Given the description of an element on the screen output the (x, y) to click on. 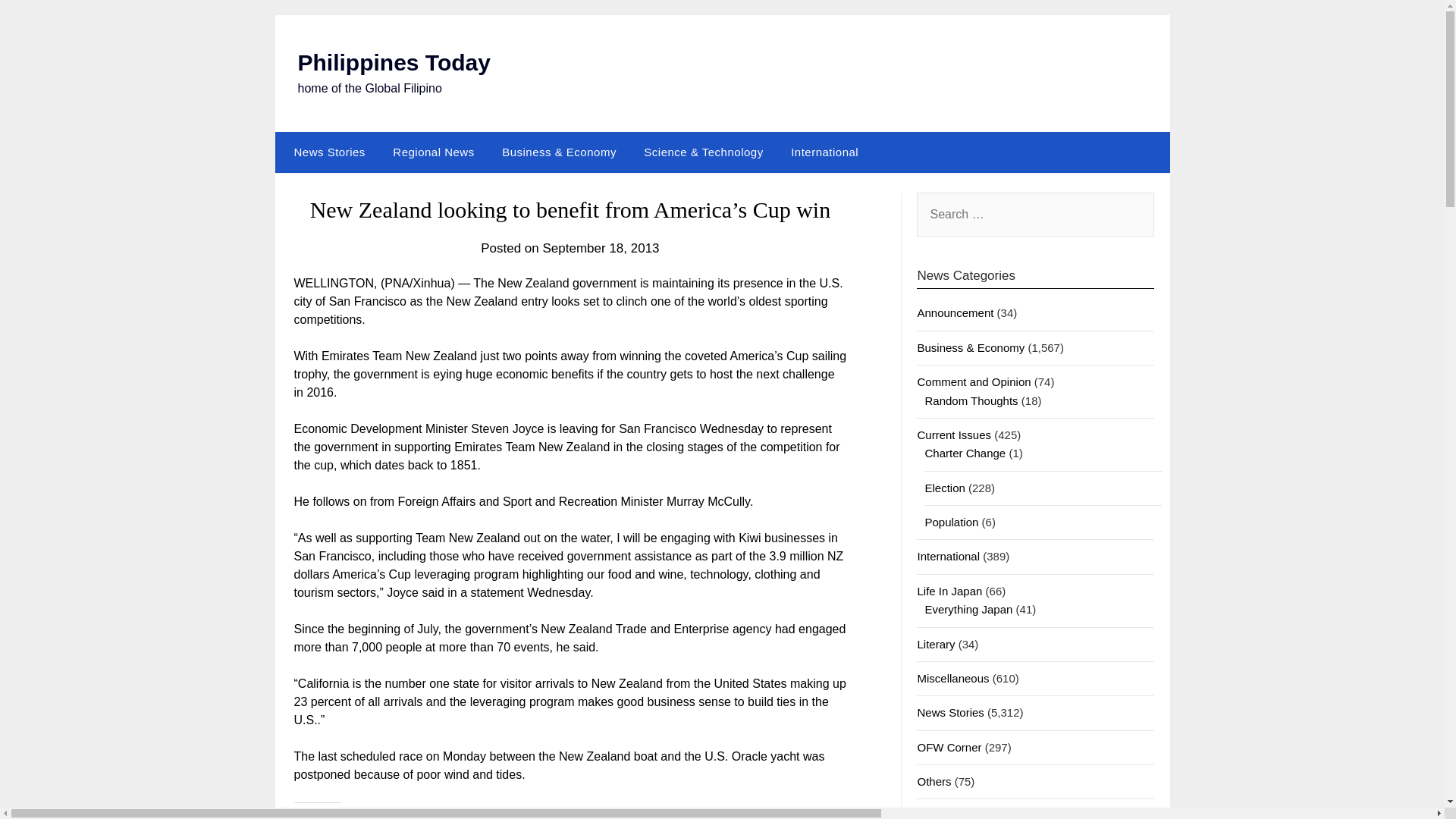
News Stories (950, 712)
Search (38, 22)
OFW Corner (949, 747)
Life In Japan (949, 590)
People (934, 814)
News Stories (326, 151)
Regional News (433, 151)
Literary (936, 644)
Miscellaneous (952, 677)
Everything Japan (967, 608)
